Given the description of an element on the screen output the (x, y) to click on. 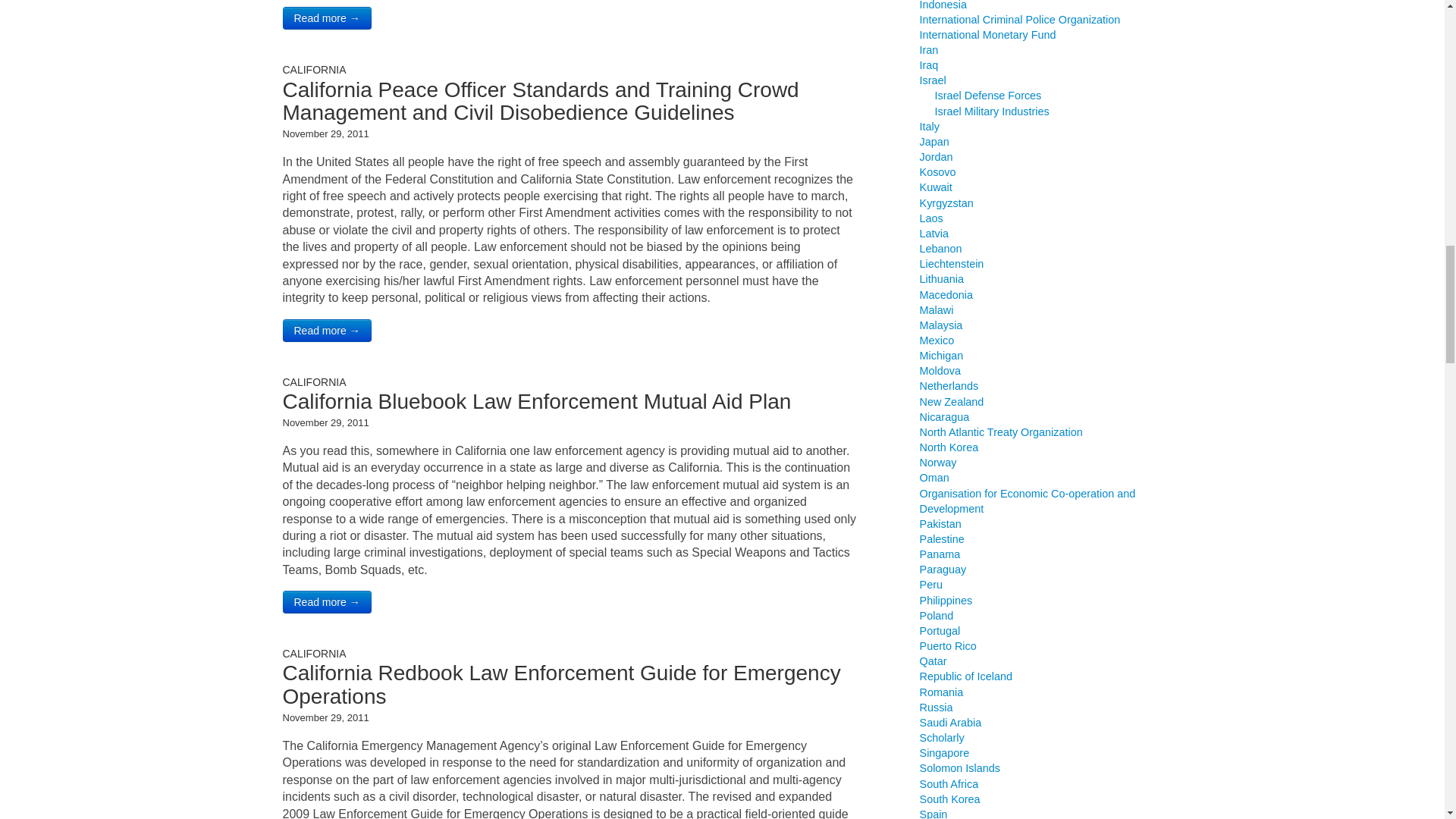
California Bluebook Law Enforcement Mutual Aid Plan (536, 401)
CALIFORNIA (314, 381)
CALIFORNIA (314, 69)
CALIFORNIA (314, 653)
November 29, 2011 (325, 422)
California Bluebook Law Enforcement Mutual Aid Plan (536, 401)
November 29, 2011 (325, 133)
